Given the description of an element on the screen output the (x, y) to click on. 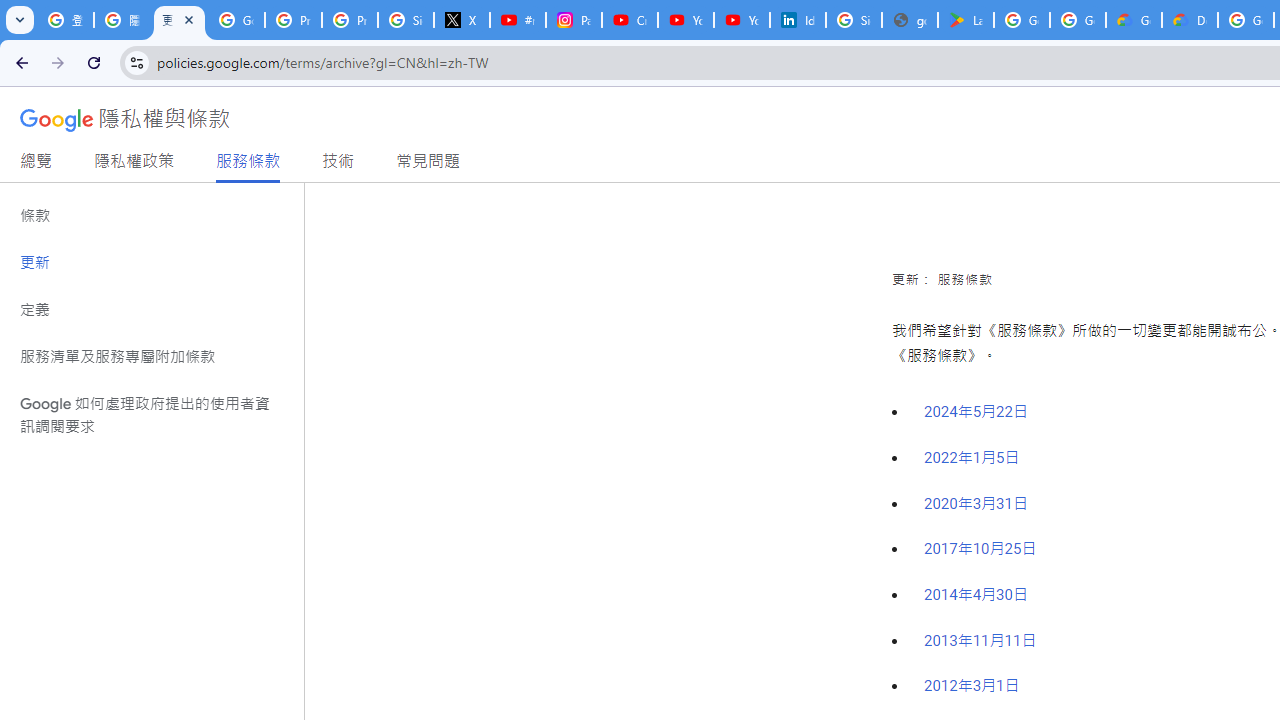
YouTube Culture & Trends - YouTube Top 10, 2021 (742, 20)
Sign in - Google Accounts (405, 20)
#nbabasketballhighlights - YouTube (518, 20)
